Given the description of an element on the screen output the (x, y) to click on. 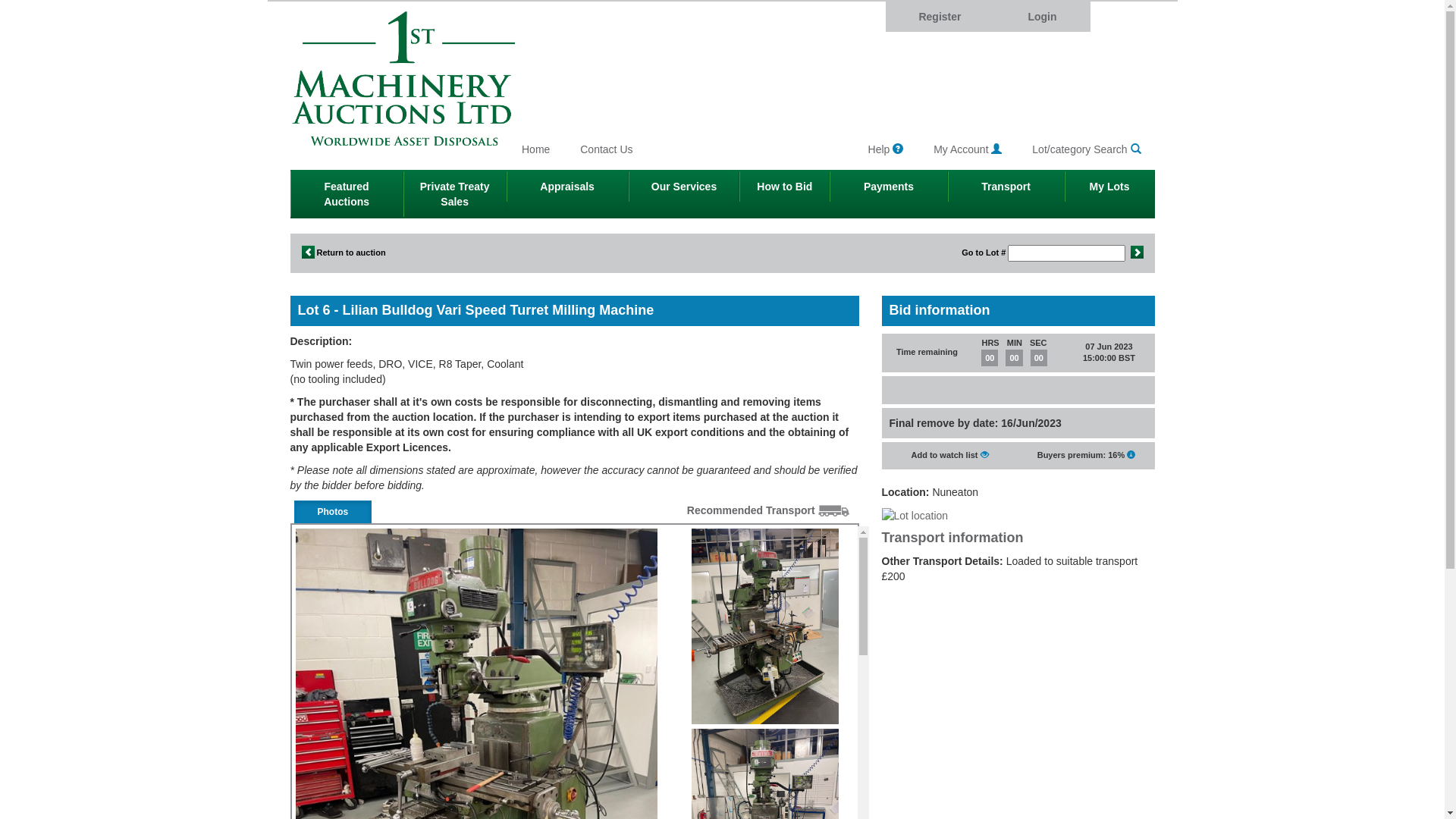
Home Element type: text (535, 149)
Payments Element type: text (888, 186)
Help  Element type: text (885, 149)
Private Treaty Sales Element type: text (454, 193)
Lot/category Search  Element type: text (1086, 149)
Transport Element type: text (1005, 186)
My Lots Element type: text (1109, 186)
Our Services Element type: text (684, 186)
How to Bid Element type: text (784, 186)
Appraisals Element type: text (567, 186)
Featured Auctions Element type: text (345, 193)
Register Element type: text (939, 16)
Contact Us Element type: text (606, 149)
Login Element type: text (1041, 16)
Photos Element type: text (333, 511)
My Account  Element type: text (967, 149)
 Return to auction Element type: text (343, 252)
Recommended Transport  Element type: text (768, 510)
